Given the description of an element on the screen output the (x, y) to click on. 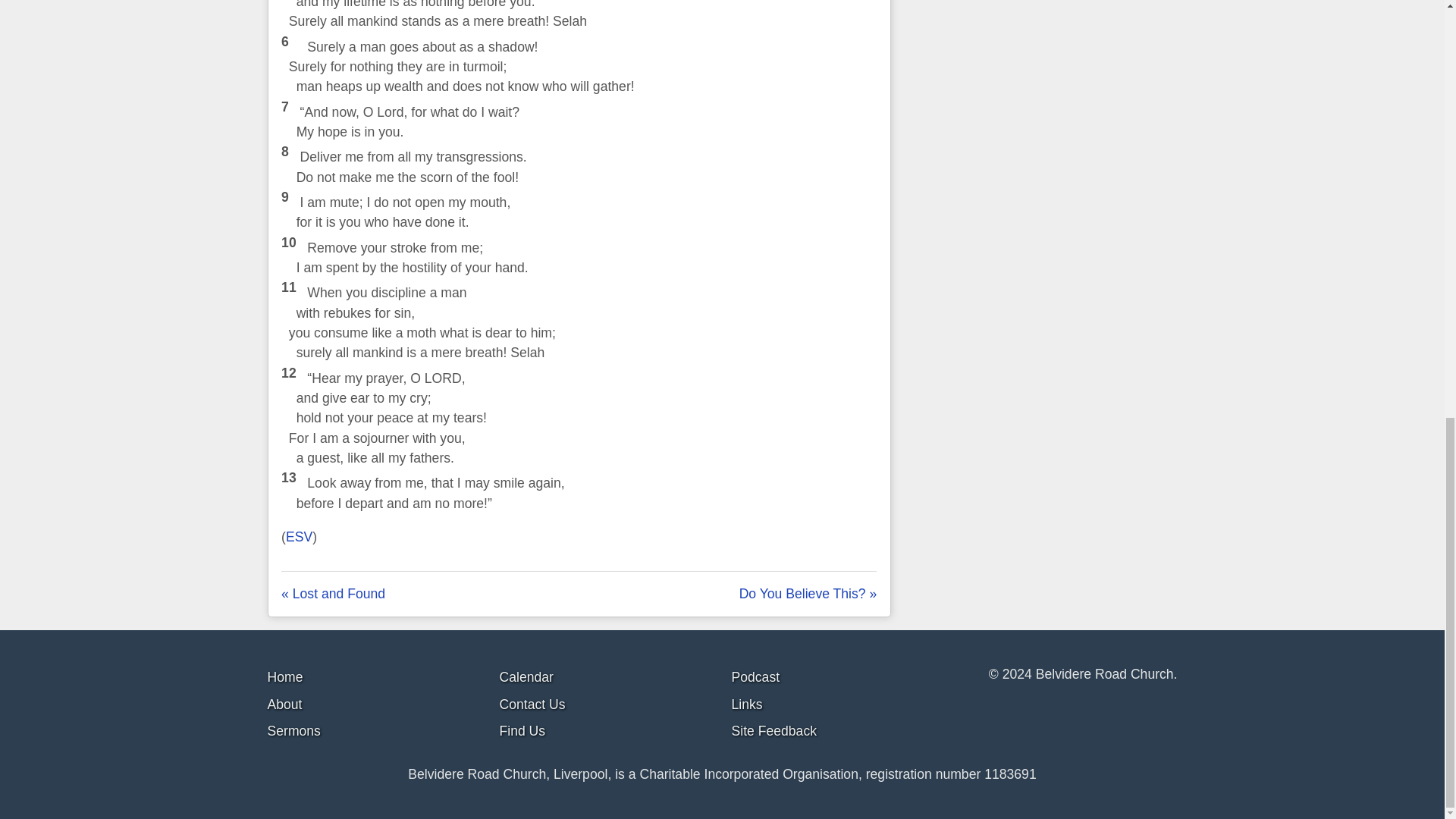
About (284, 703)
